Given the description of an element on the screen output the (x, y) to click on. 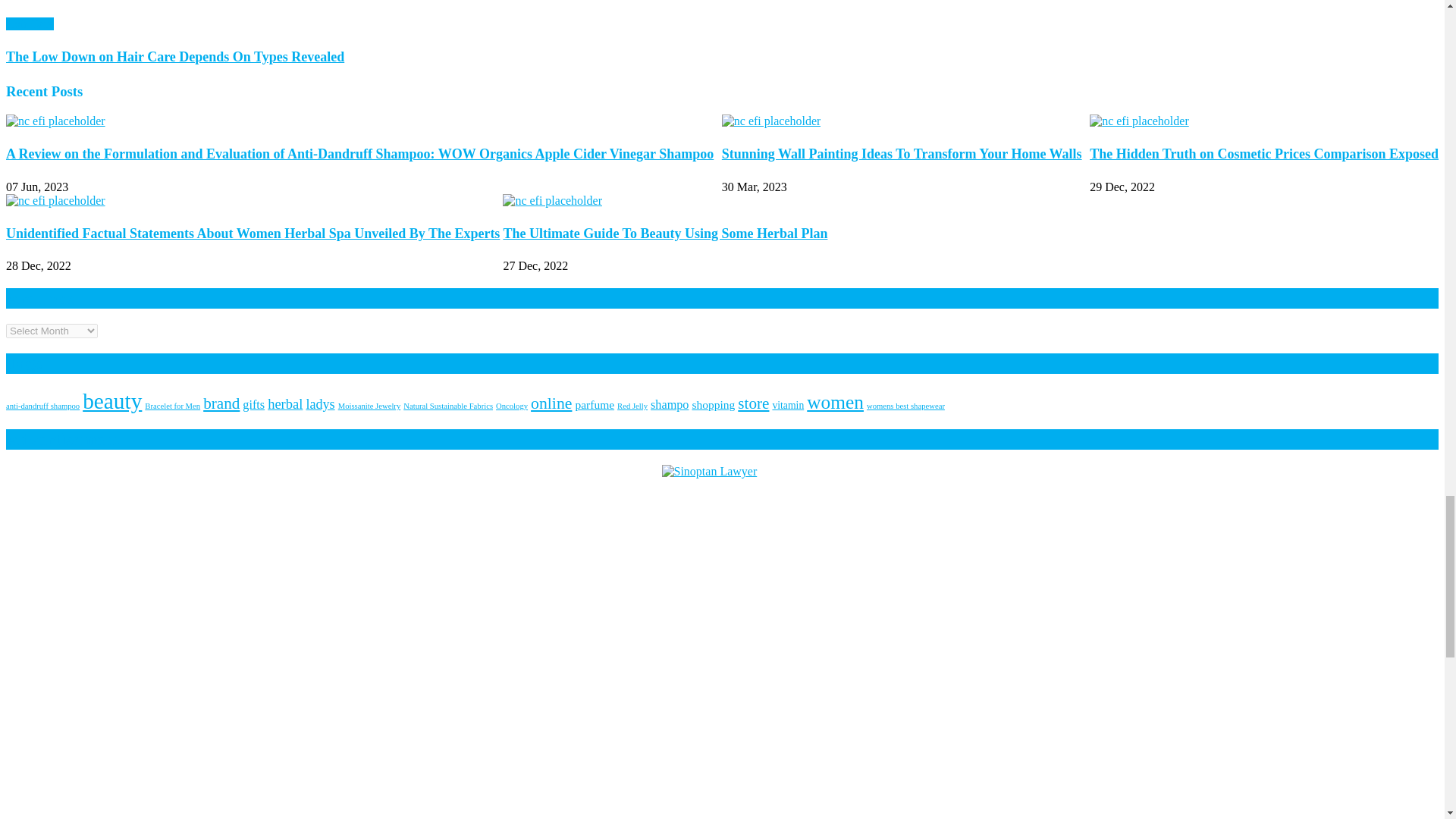
Stunning Wall Painting Ideas To Transform Your Home Walls (771, 120)
The Low Down on Hair Care Depends On Types Revealed (174, 56)
The Hidden Truth on Cosmetic Prices Comparison Exposed (1139, 120)
The Ultimate Guide To Beauty Using Some Herbal Plan (552, 201)
The Low Down on Hair Care Depends On Types Revealed (721, 8)
Hair Care (29, 23)
